Given the description of an element on the screen output the (x, y) to click on. 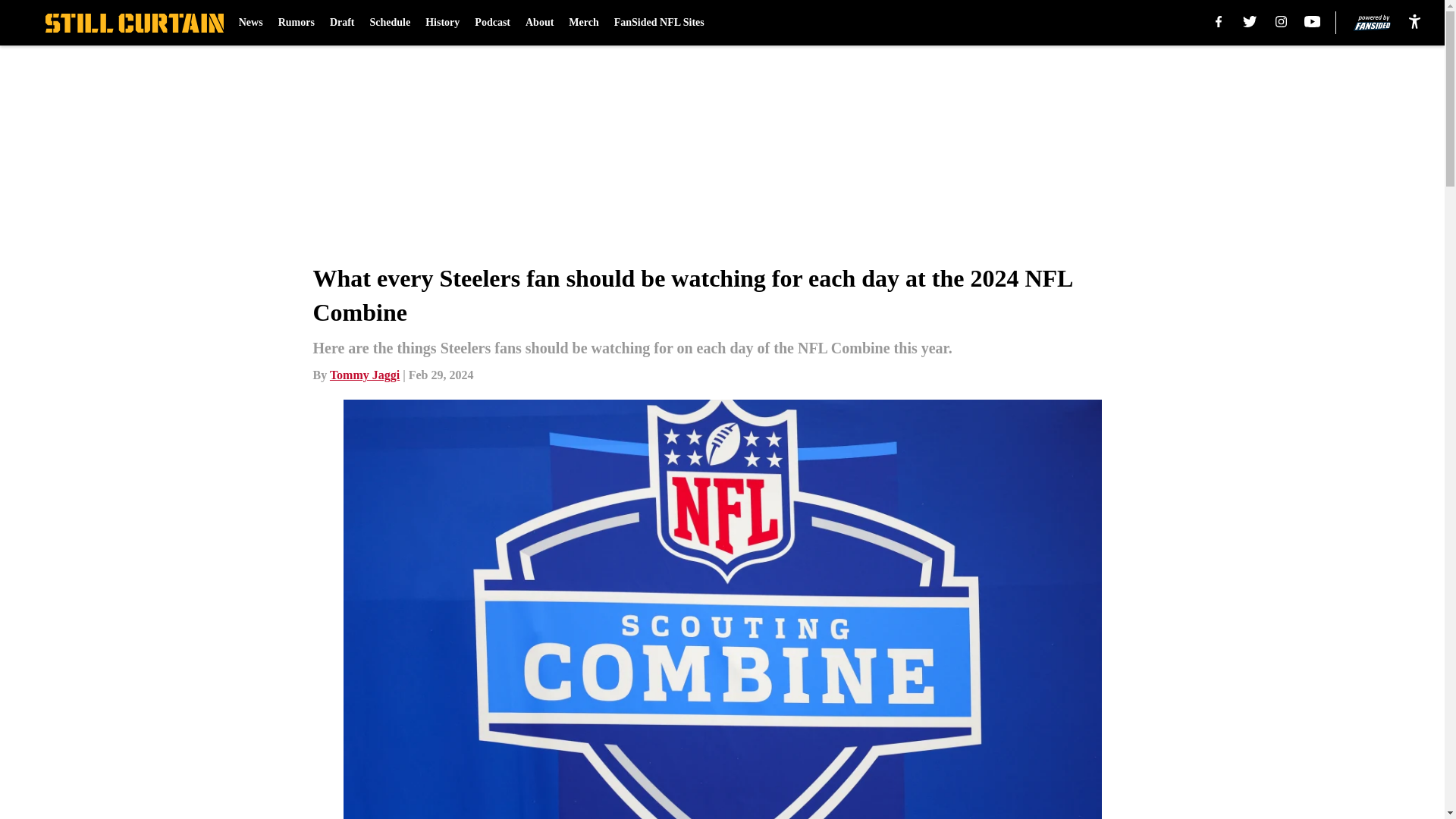
Schedule (389, 22)
FanSided NFL Sites (659, 22)
Tommy Jaggi (364, 374)
Draft (342, 22)
History (442, 22)
Rumors (296, 22)
News (250, 22)
Merch (583, 22)
About (539, 22)
